Given the description of an element on the screen output the (x, y) to click on. 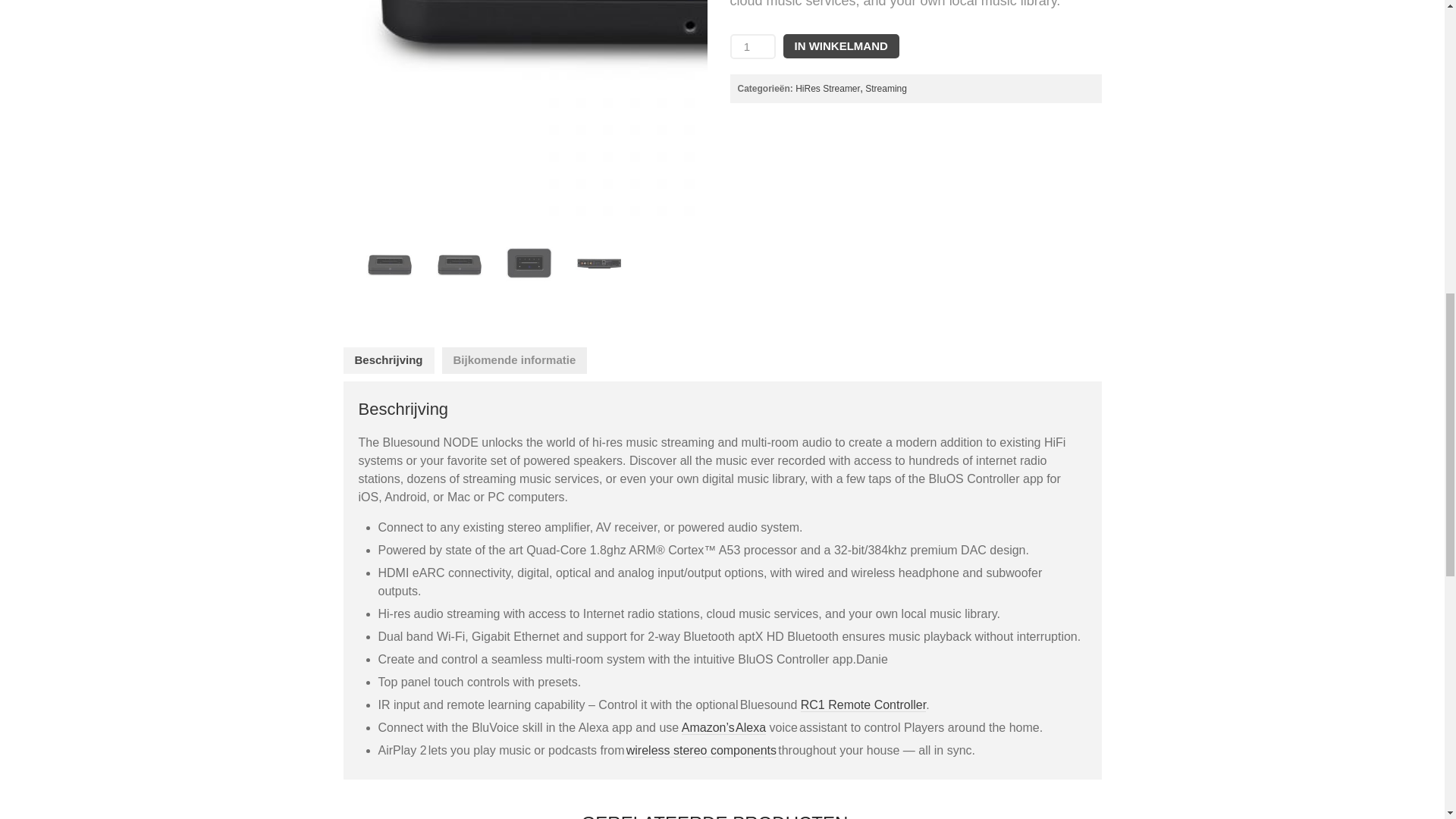
1 (751, 46)
